Given the description of an element on the screen output the (x, y) to click on. 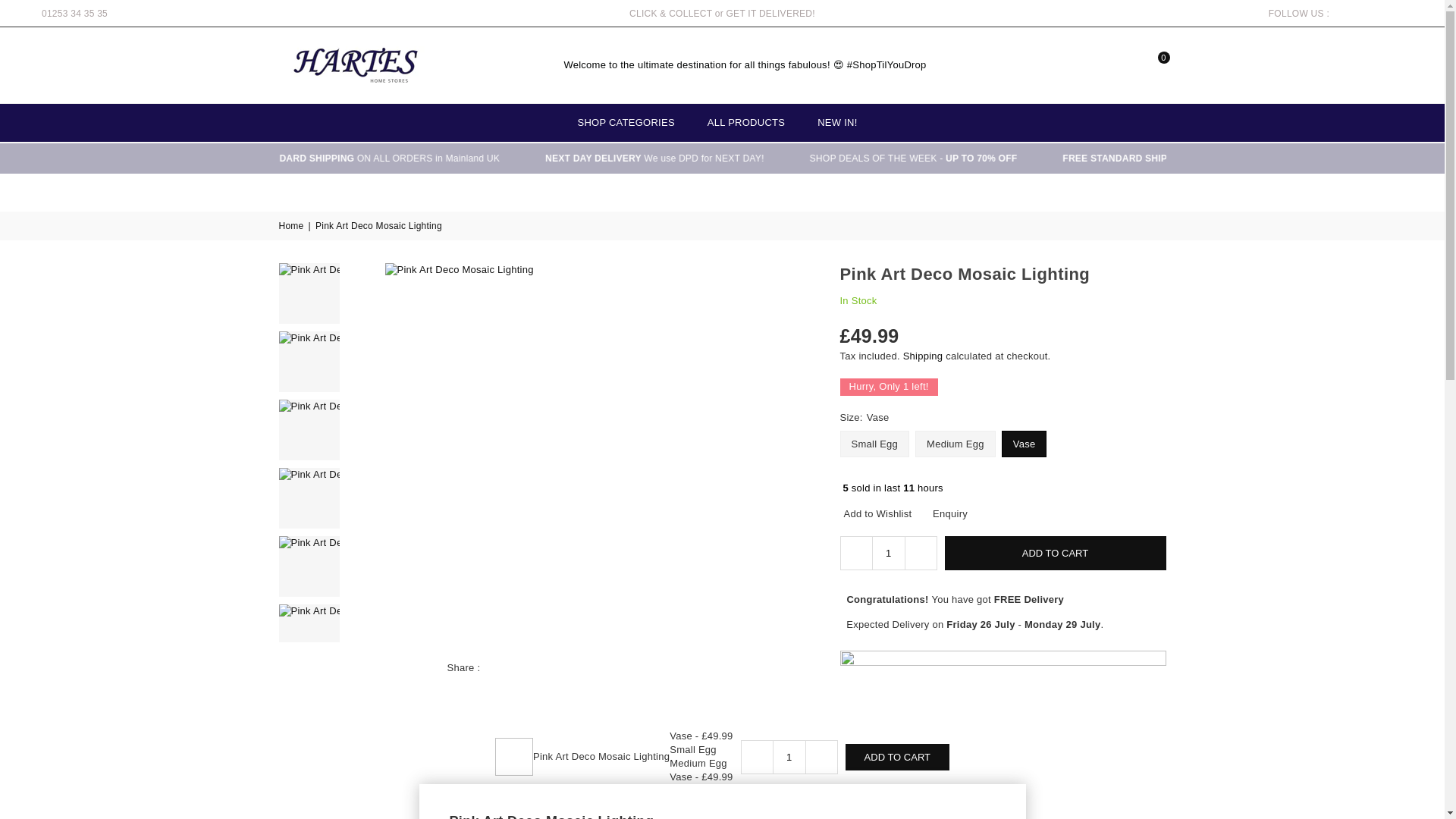
Twitter (1348, 13)
Linkedin (1380, 13)
Pink Art Deco Mosaic Lighting (309, 361)
SHOP CATEGORIES (626, 122)
Instagram (1369, 13)
Pinterest (1359, 13)
Back to the home page (292, 226)
01253 34 35 35 (74, 12)
Facebook (1337, 13)
YouTube (1391, 13)
0 (1152, 64)
Wishlist (1125, 64)
TikTok (1401, 13)
1 (789, 757)
Search (1070, 64)
